Given the description of an element on the screen output the (x, y) to click on. 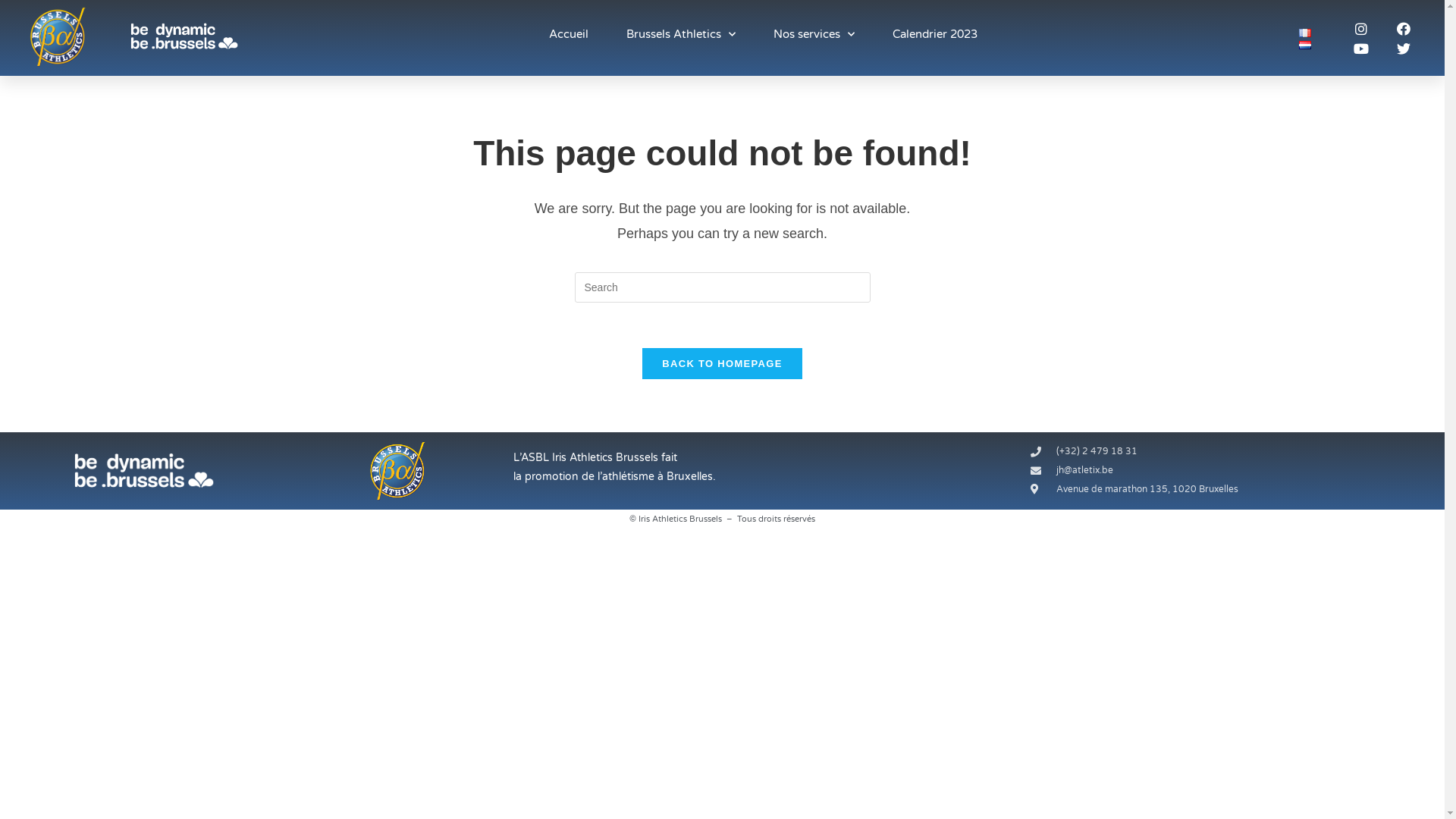
Accueil Element type: text (568, 34)
Calendrier 2023 Element type: text (934, 34)
BACK TO HOMEPAGE Element type: text (721, 363)
Nos services Element type: text (813, 34)
Brussels Athletics Element type: text (680, 34)
jh@atletix.be Element type: text (1219, 470)
